Given the description of an element on the screen output the (x, y) to click on. 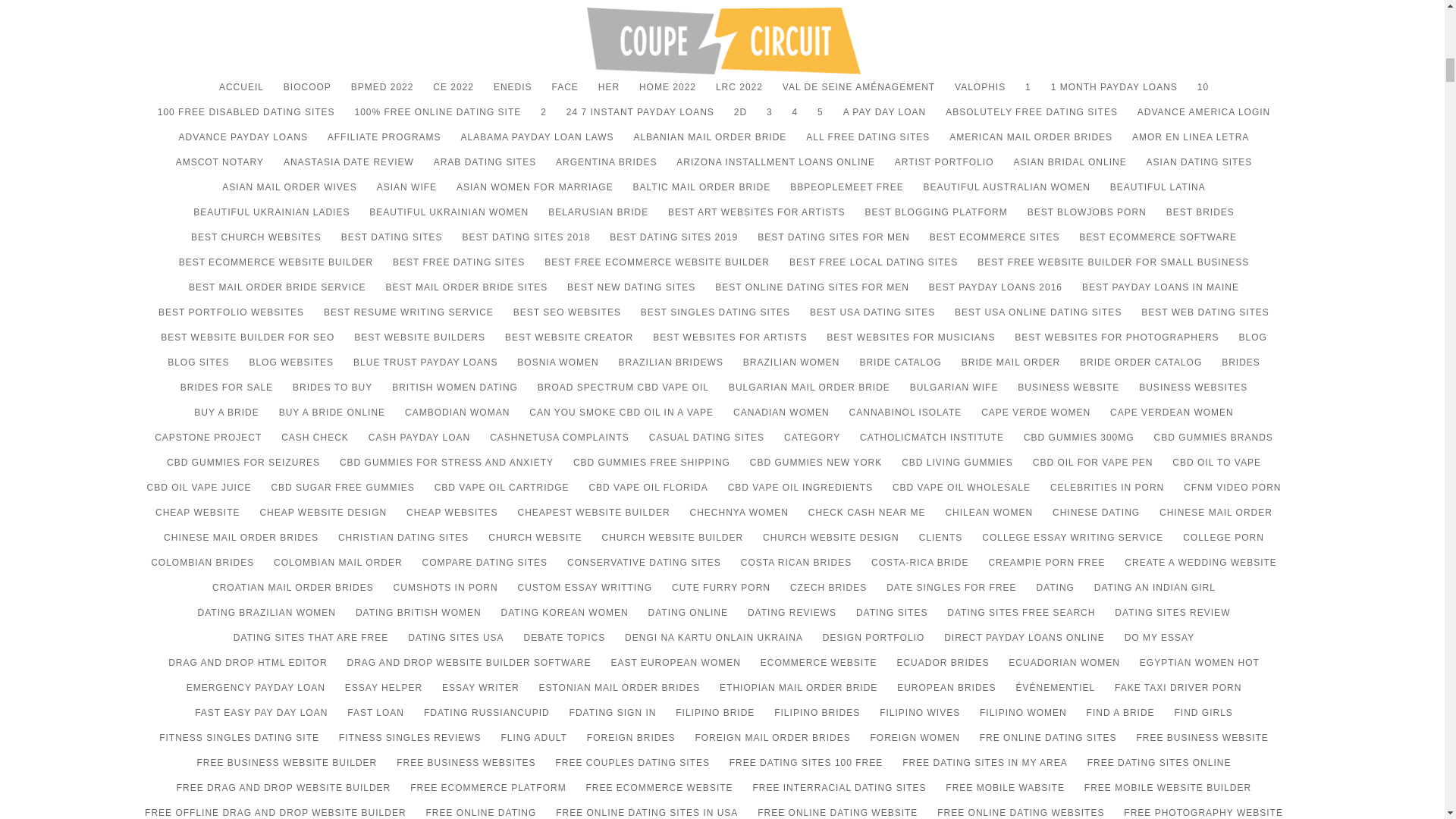
Rechercher (1264, 354)
